Given the description of an element on the screen output the (x, y) to click on. 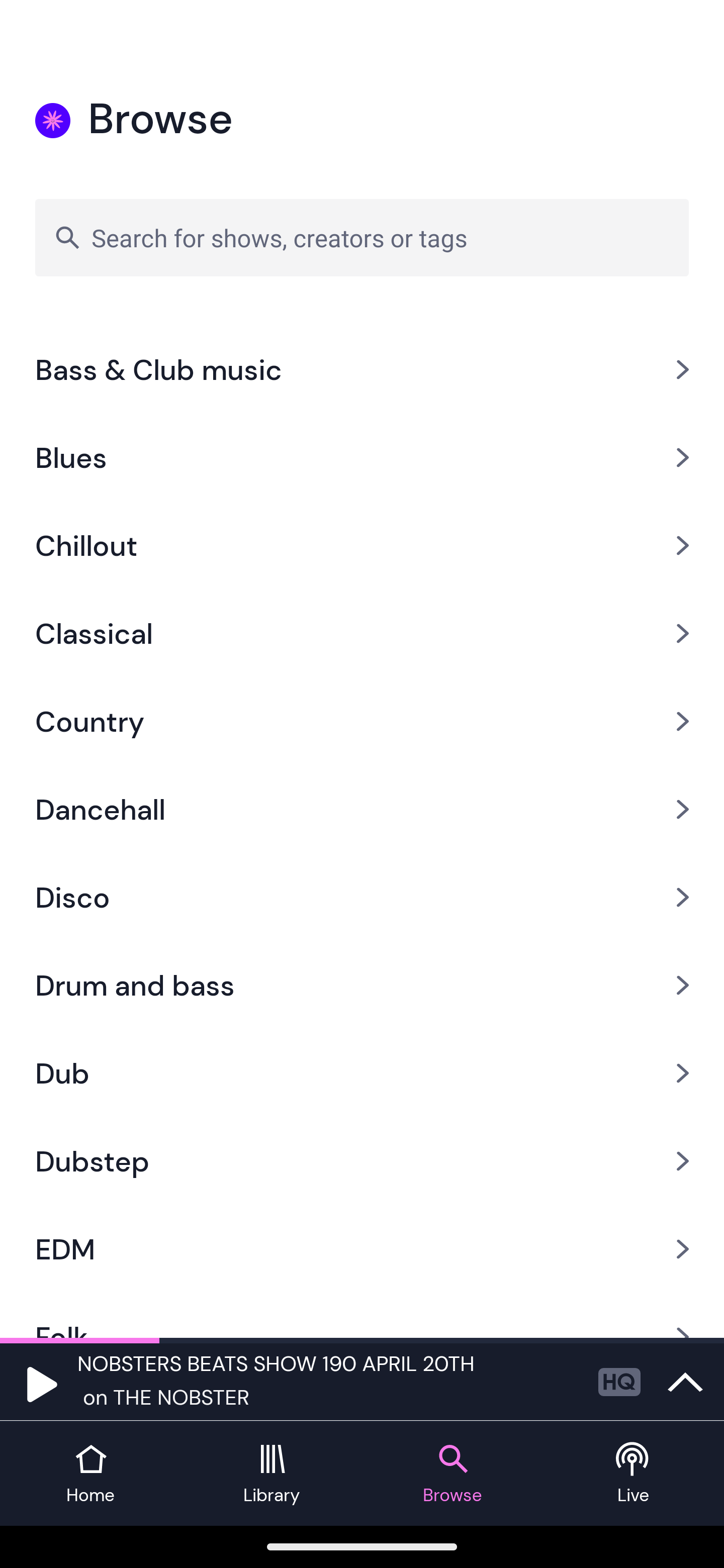
Search for shows, creators or tags (361, 237)
Bass & Club music (361, 369)
Blues (361, 457)
Chillout (361, 545)
Classical (361, 633)
Country (361, 721)
Dancehall (361, 808)
Disco (361, 896)
Drum and bass (361, 984)
Dub (361, 1072)
Dubstep (361, 1160)
EDM (361, 1249)
Home tab Home (90, 1473)
Library tab Library (271, 1473)
Browse tab Browse (452, 1473)
Live tab Live (633, 1473)
